Given the description of an element on the screen output the (x, y) to click on. 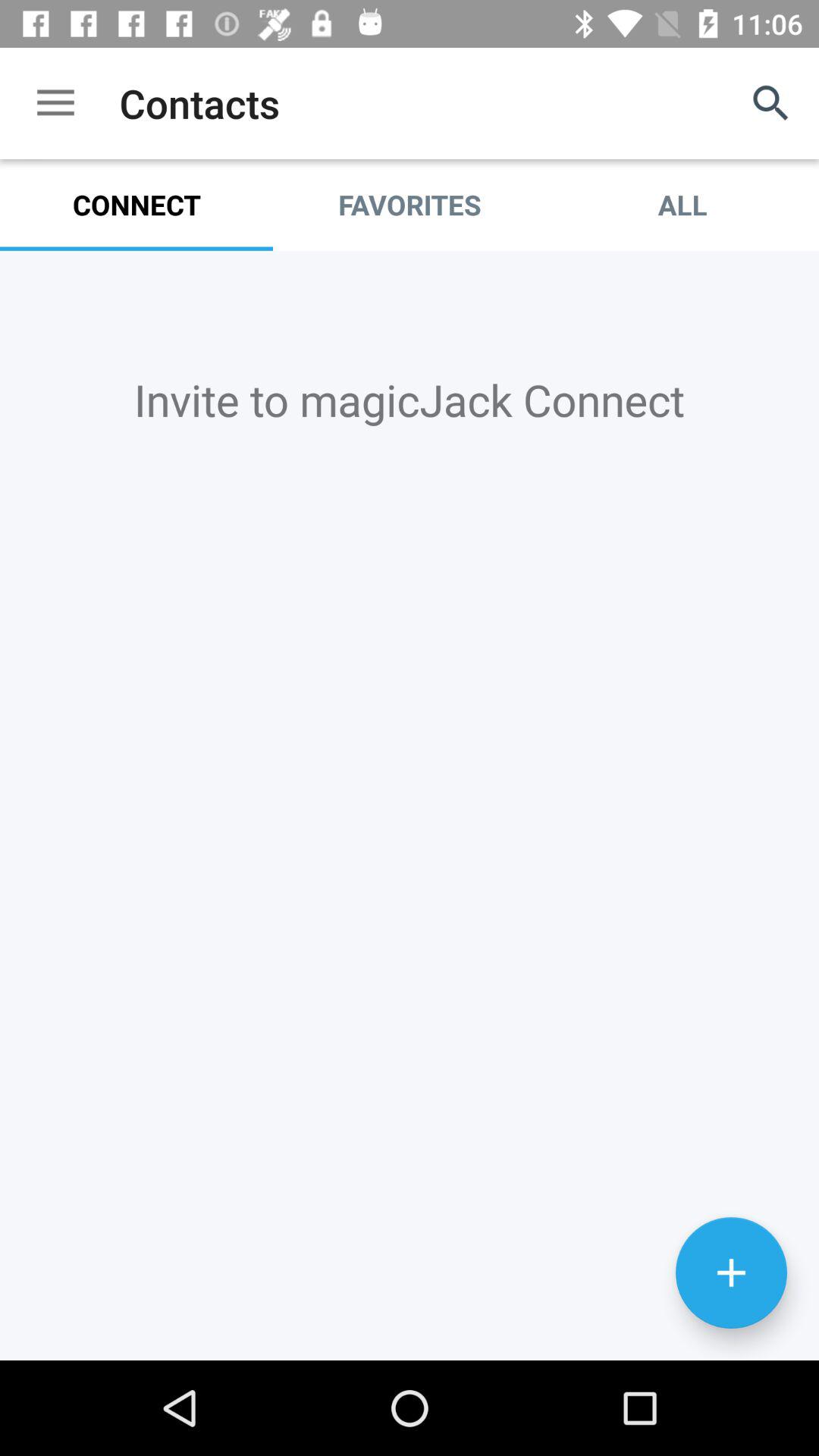
click favorites (409, 204)
